Given the description of an element on the screen output the (x, y) to click on. 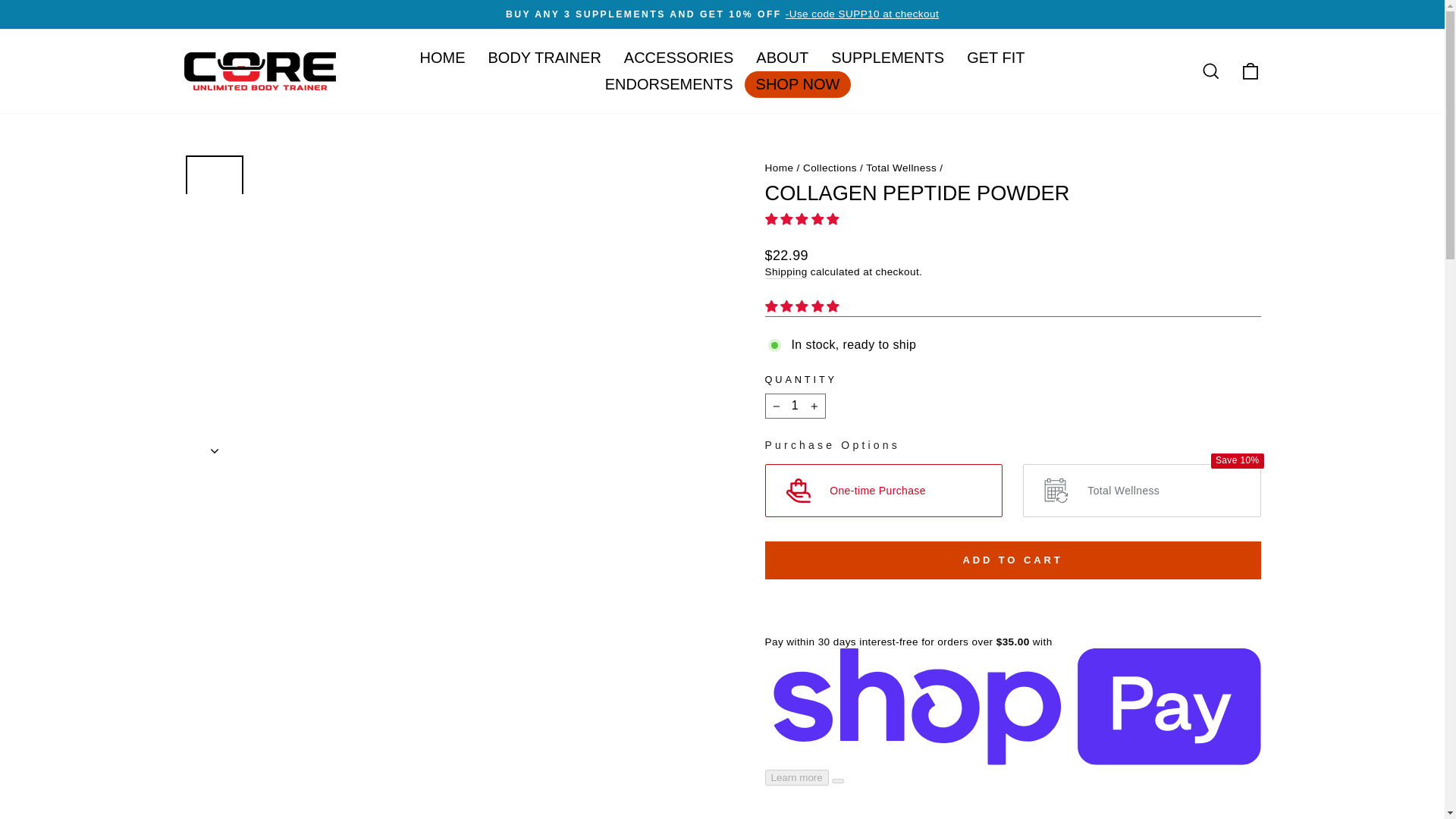
HOME (443, 58)
SEARCH (1210, 70)
BODY TRAINER (544, 58)
SHOP NOW (797, 84)
Back to the frontpage (778, 167)
ENDORSEMENTS (669, 84)
GET FIT (995, 58)
CART (1249, 70)
1 (794, 405)
